Given the description of an element on the screen output the (x, y) to click on. 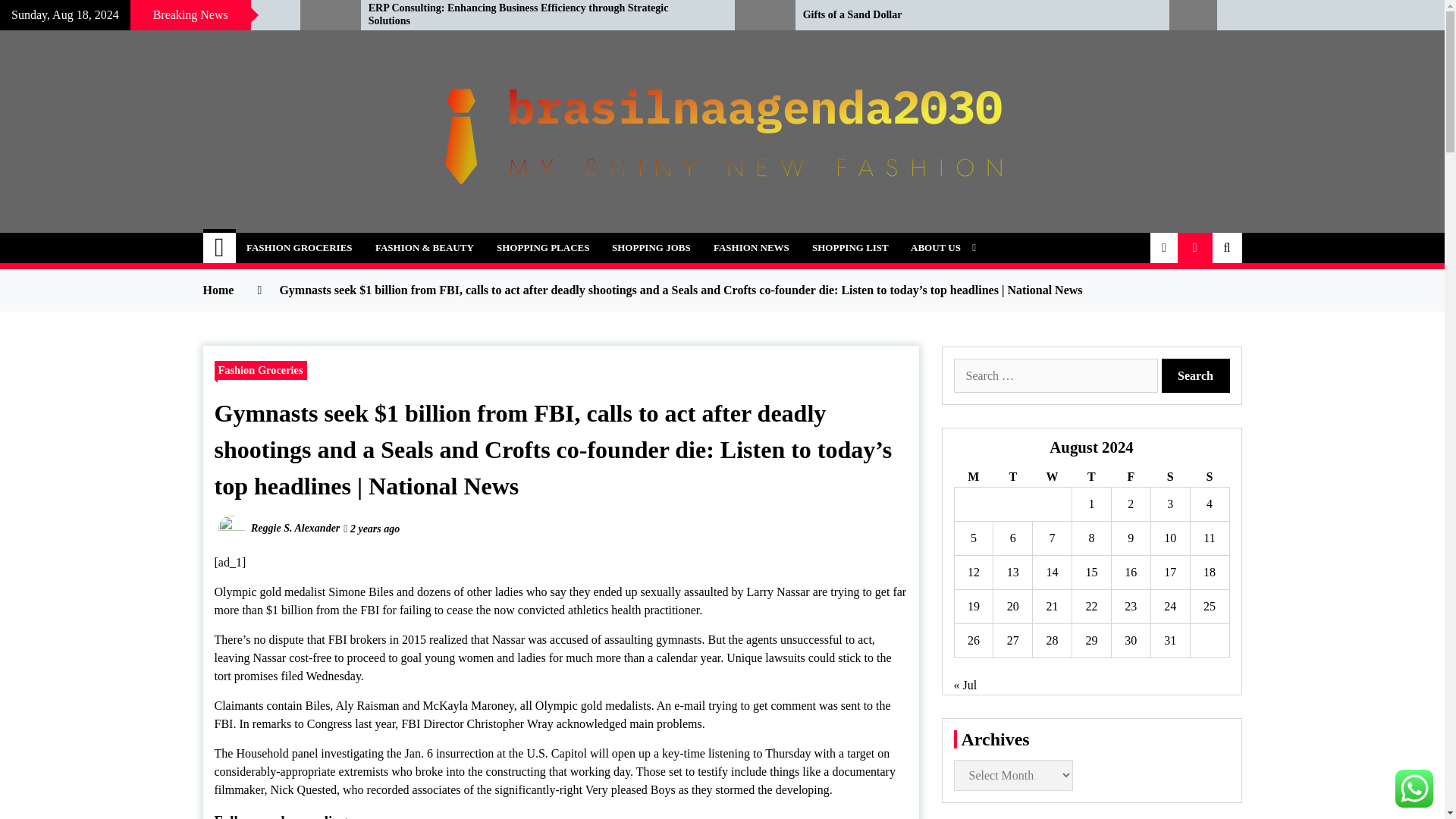
Friday (1130, 476)
Home (219, 247)
Gifts of a Sand Dollar (975, 15)
Search (1195, 375)
Saturday (1169, 476)
Wednesday (1051, 476)
Monday (972, 476)
Tuesday (1012, 476)
Thursday (1091, 476)
